Given the description of an element on the screen output the (x, y) to click on. 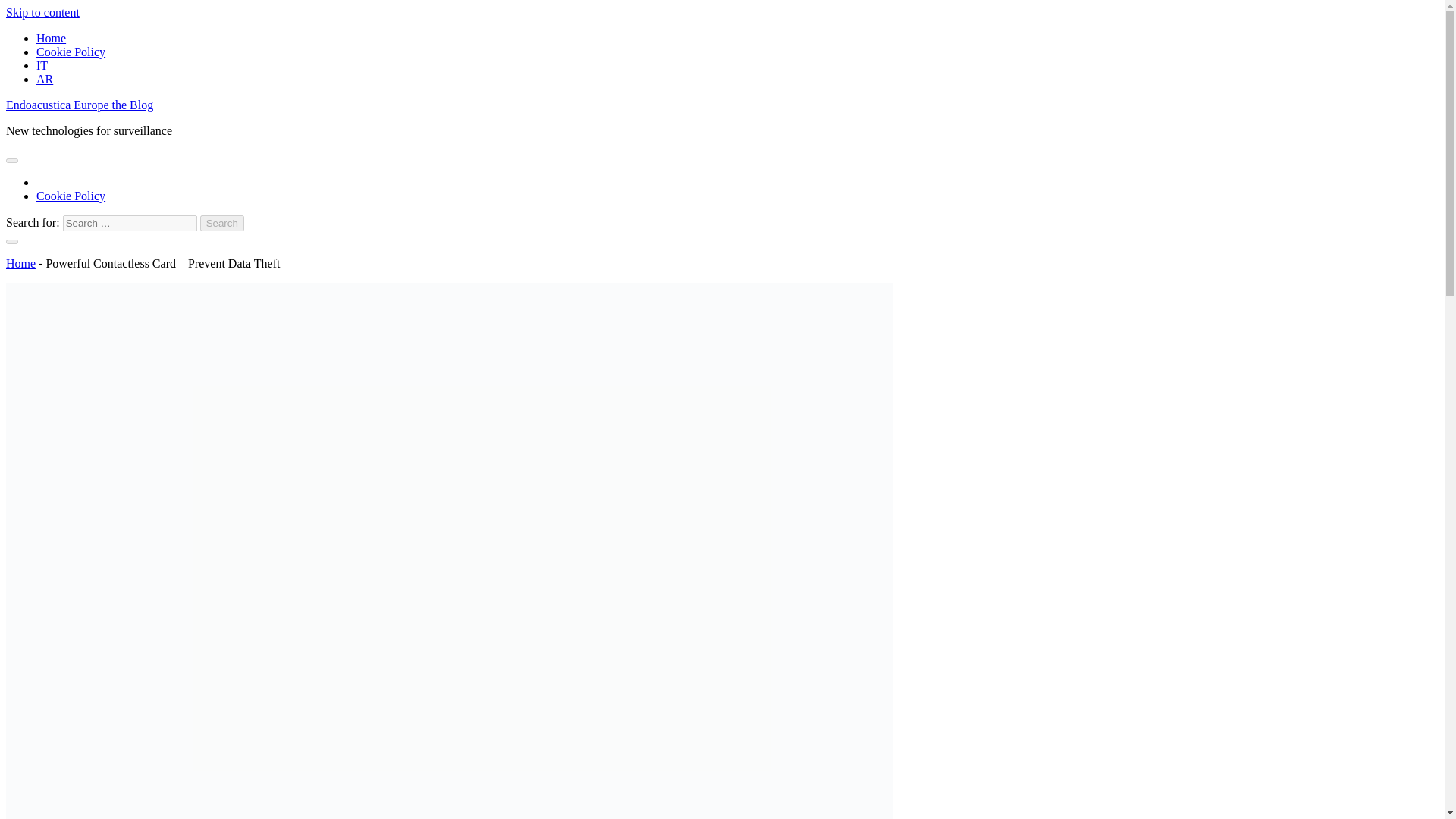
Endoacustica Europe the Blog (78, 104)
Cookie Policy (70, 195)
Search (222, 222)
Skip to content (42, 11)
Search (222, 222)
Home (50, 38)
Search (222, 222)
AR (44, 78)
Home (19, 263)
Cookie Policy (70, 51)
